Given the description of an element on the screen output the (x, y) to click on. 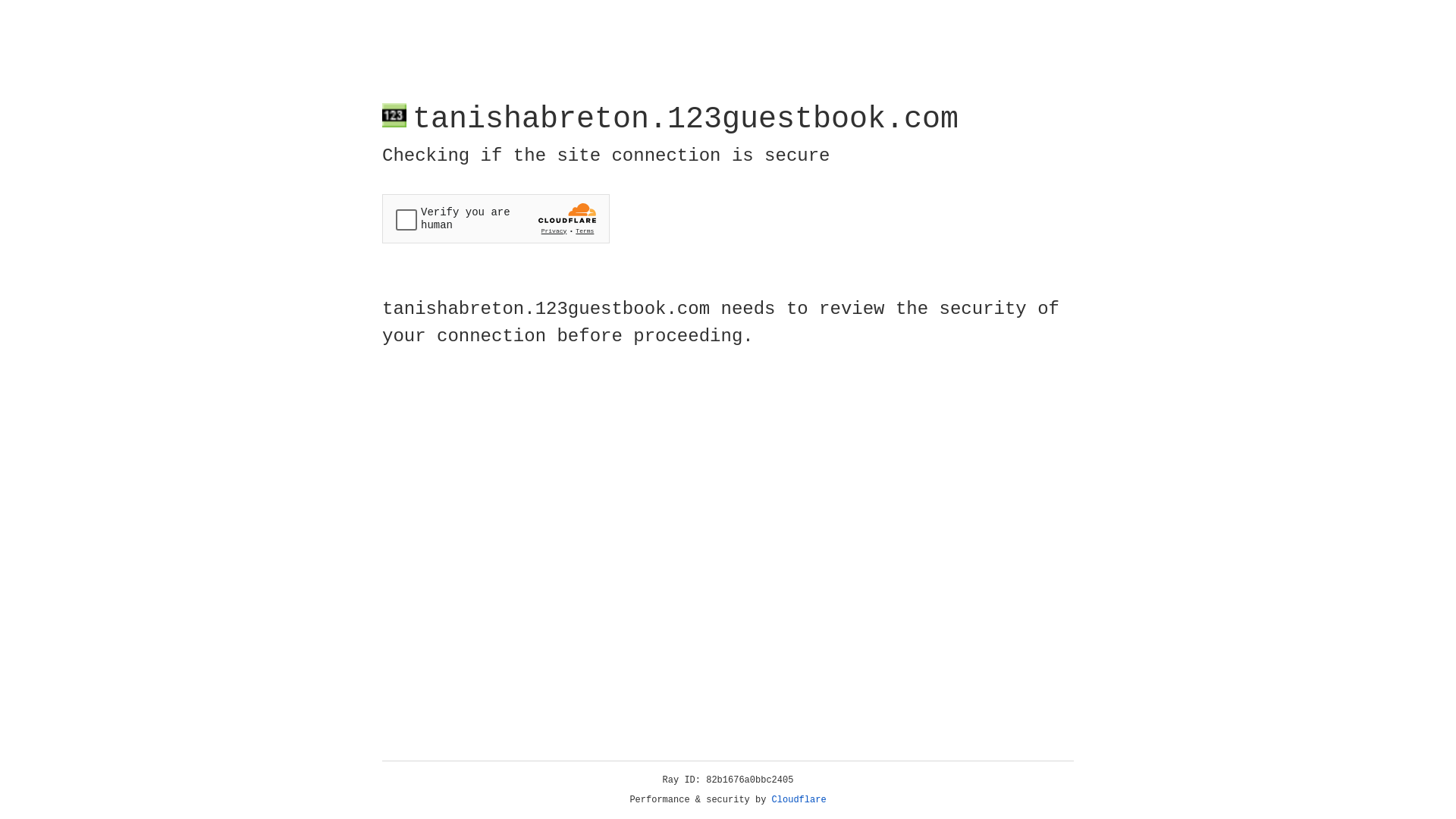
Cloudflare Element type: text (798, 799)
Widget containing a Cloudflare security challenge Element type: hover (495, 218)
